Given the description of an element on the screen output the (x, y) to click on. 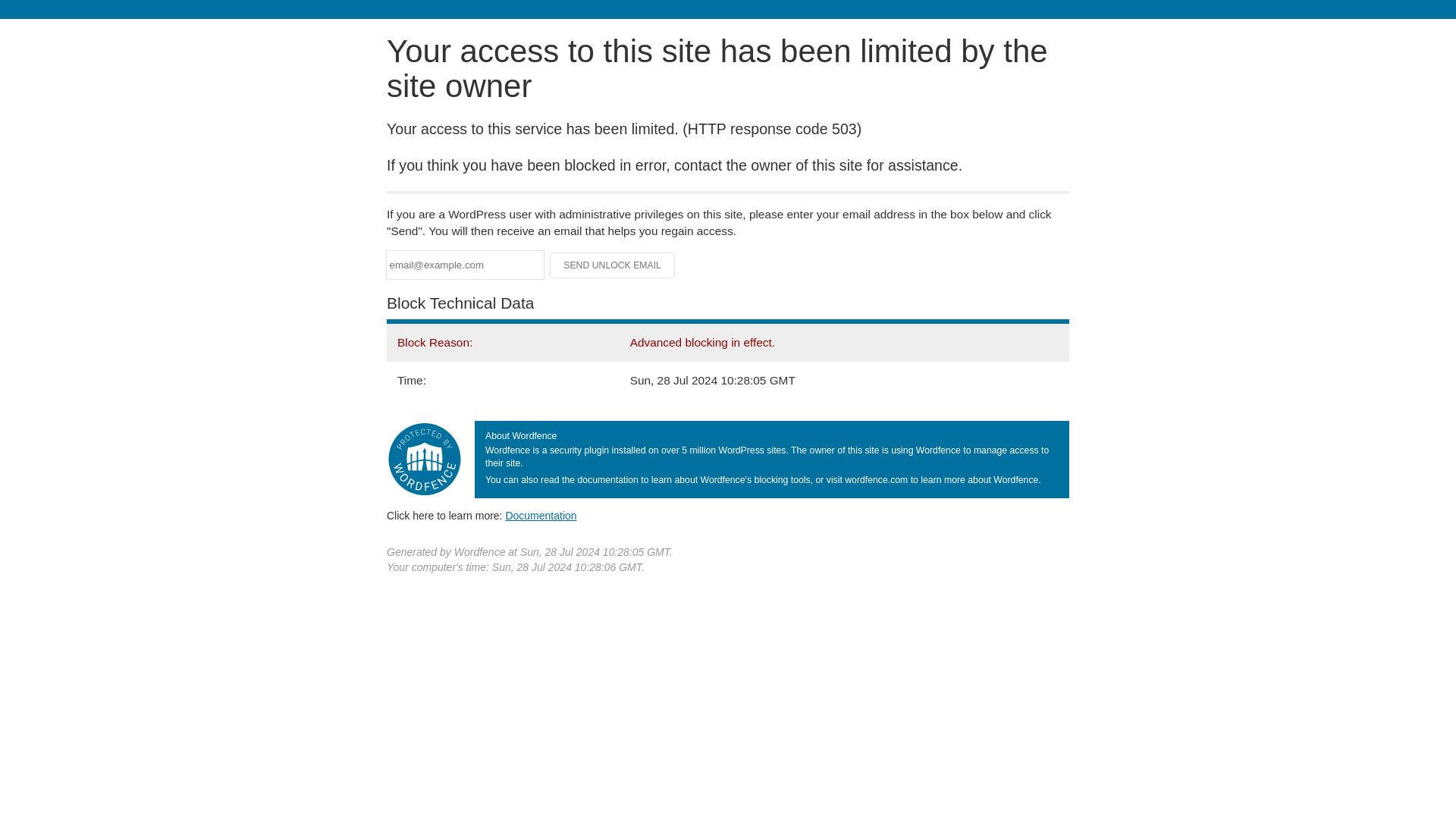
Documentation (540, 515)
Send Unlock Email (612, 265)
Send Unlock Email (612, 265)
